Given the description of an element on the screen output the (x, y) to click on. 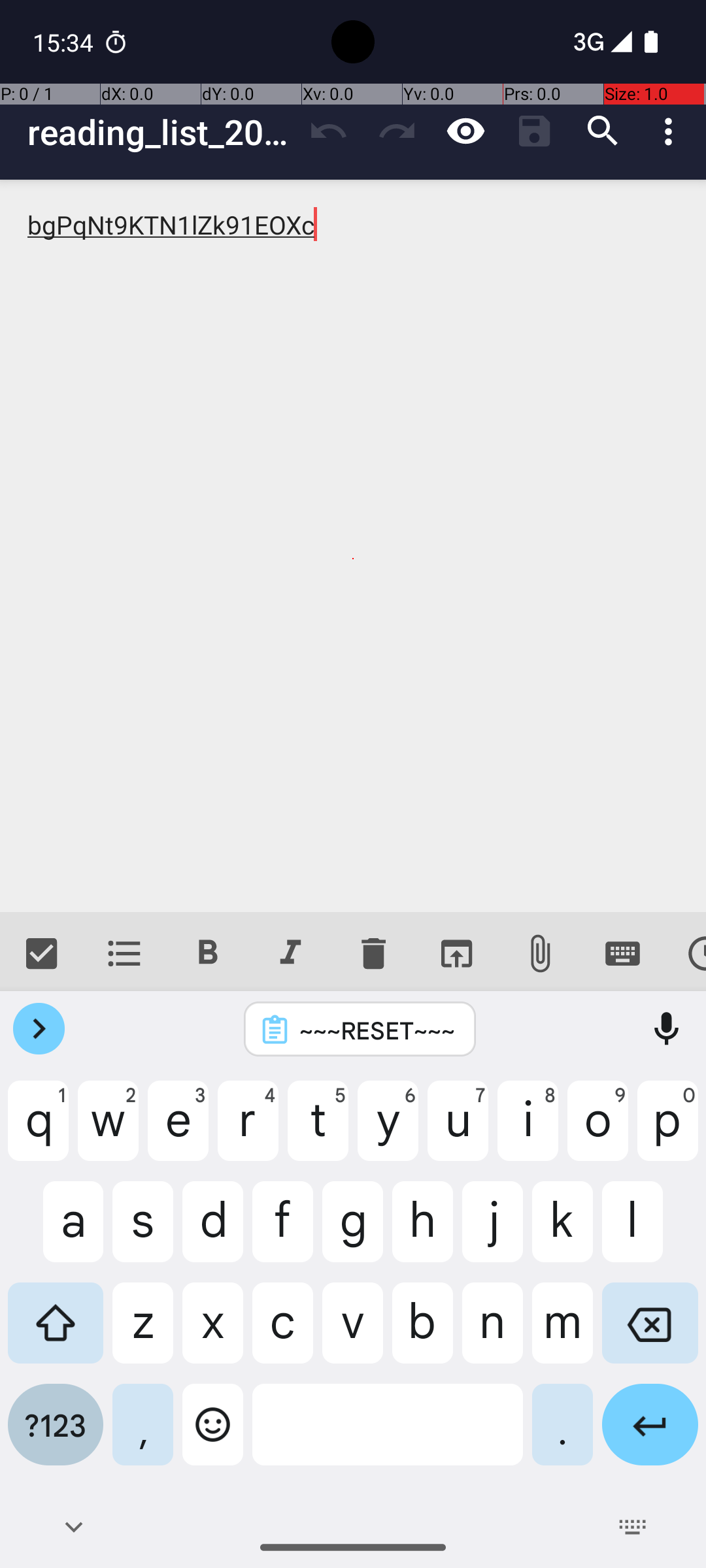
reading_list_2024_2023_03_11 Element type: android.widget.TextView (160, 131)
bgPqNt9KTN1lZk91EOXc
 Element type: android.widget.EditText (353, 545)
